Given the description of an element on the screen output the (x, y) to click on. 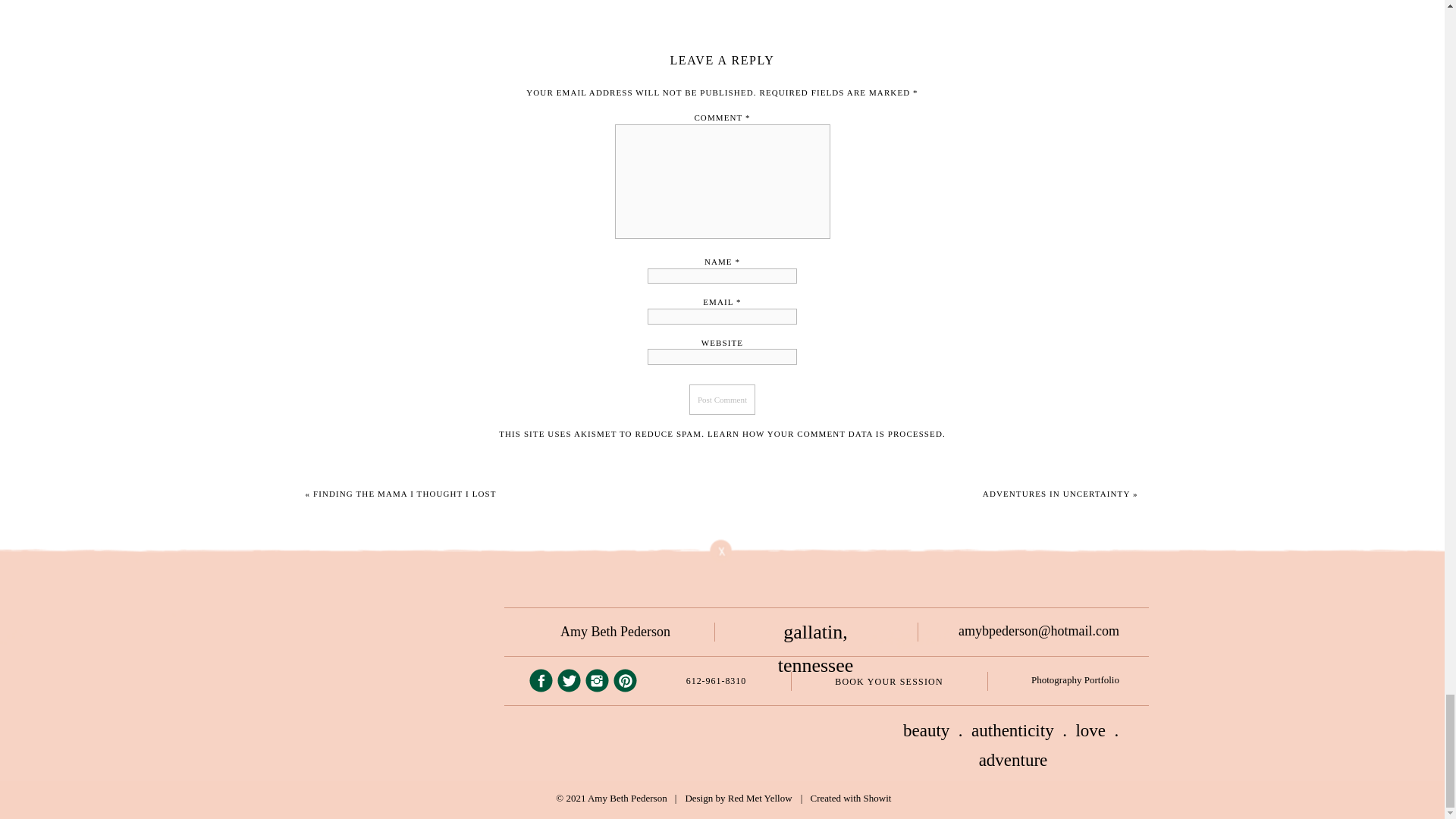
LEARN HOW YOUR COMMENT DATA IS PROCESSED (824, 433)
Post Comment (721, 399)
ADVENTURES IN UNCERTAINTY (1055, 492)
Post Comment (721, 399)
FINDING THE MAMA I THOUGHT I LOST (404, 492)
